Given the description of an element on the screen output the (x, y) to click on. 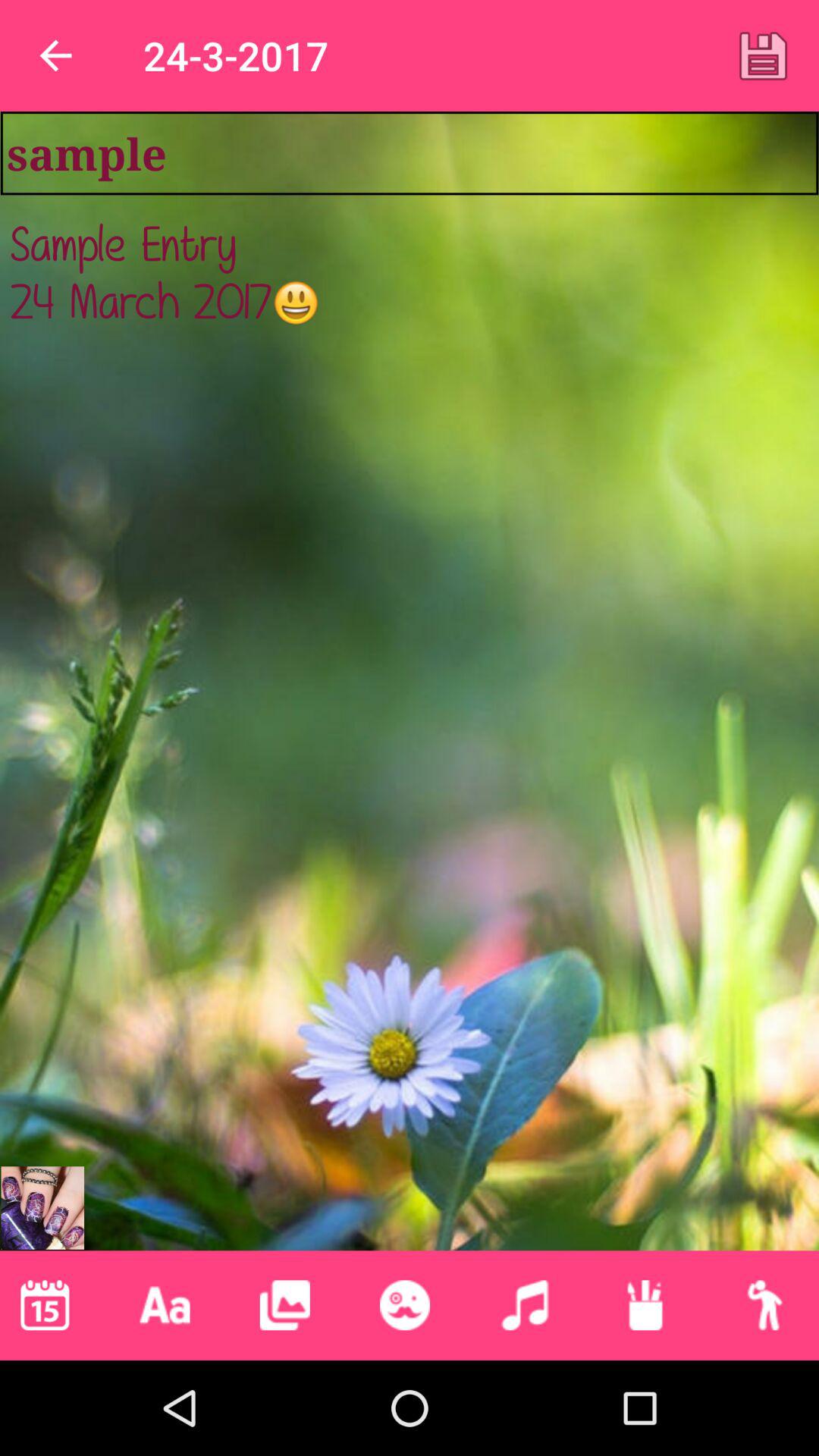
save image (763, 55)
